Given the description of an element on the screen output the (x, y) to click on. 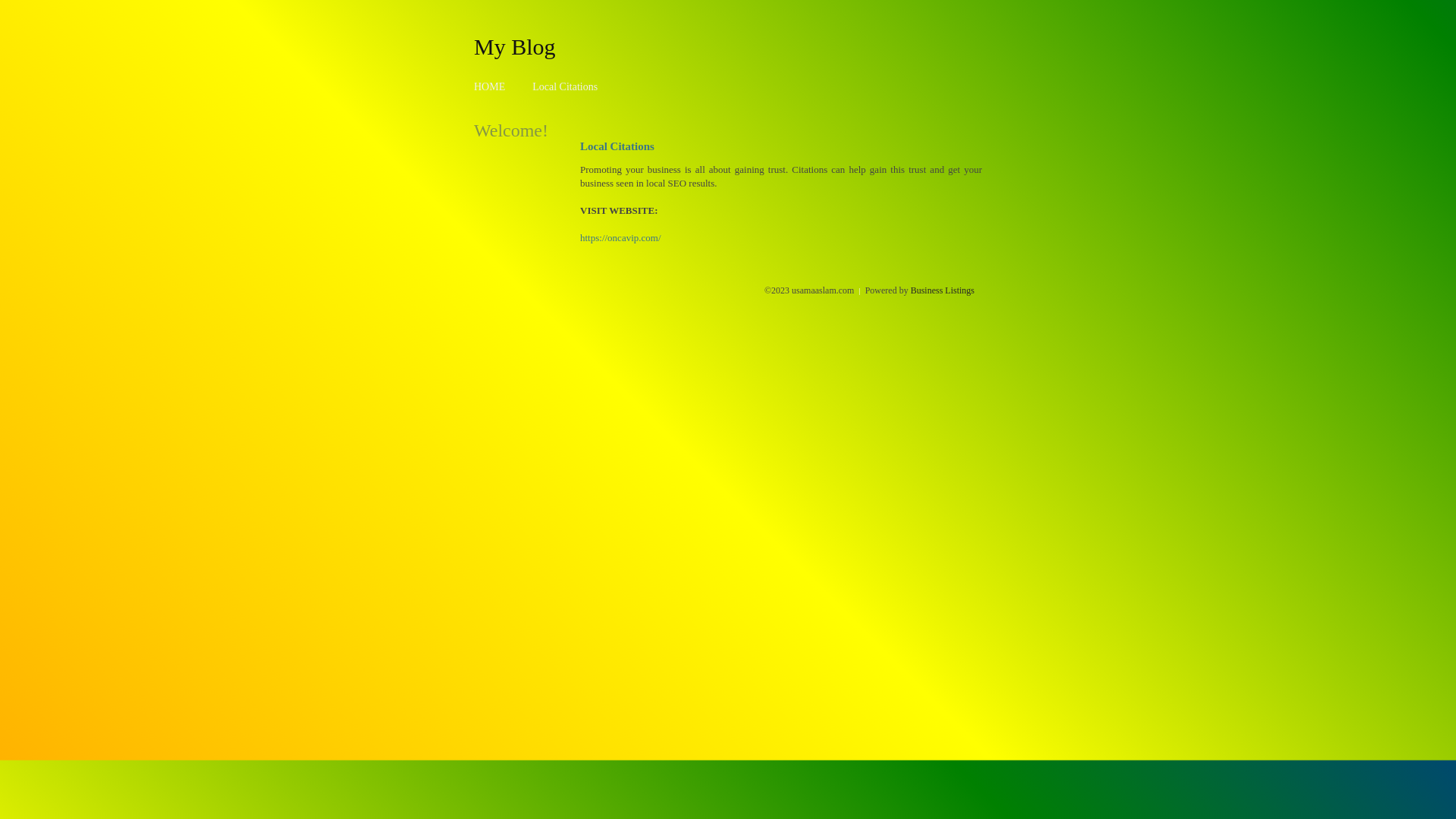
Business Listings Element type: text (942, 290)
HOME Element type: text (489, 86)
https://oncavip.com/ Element type: text (620, 237)
Local Citations Element type: text (564, 86)
My Blog Element type: text (514, 46)
